Given the description of an element on the screen output the (x, y) to click on. 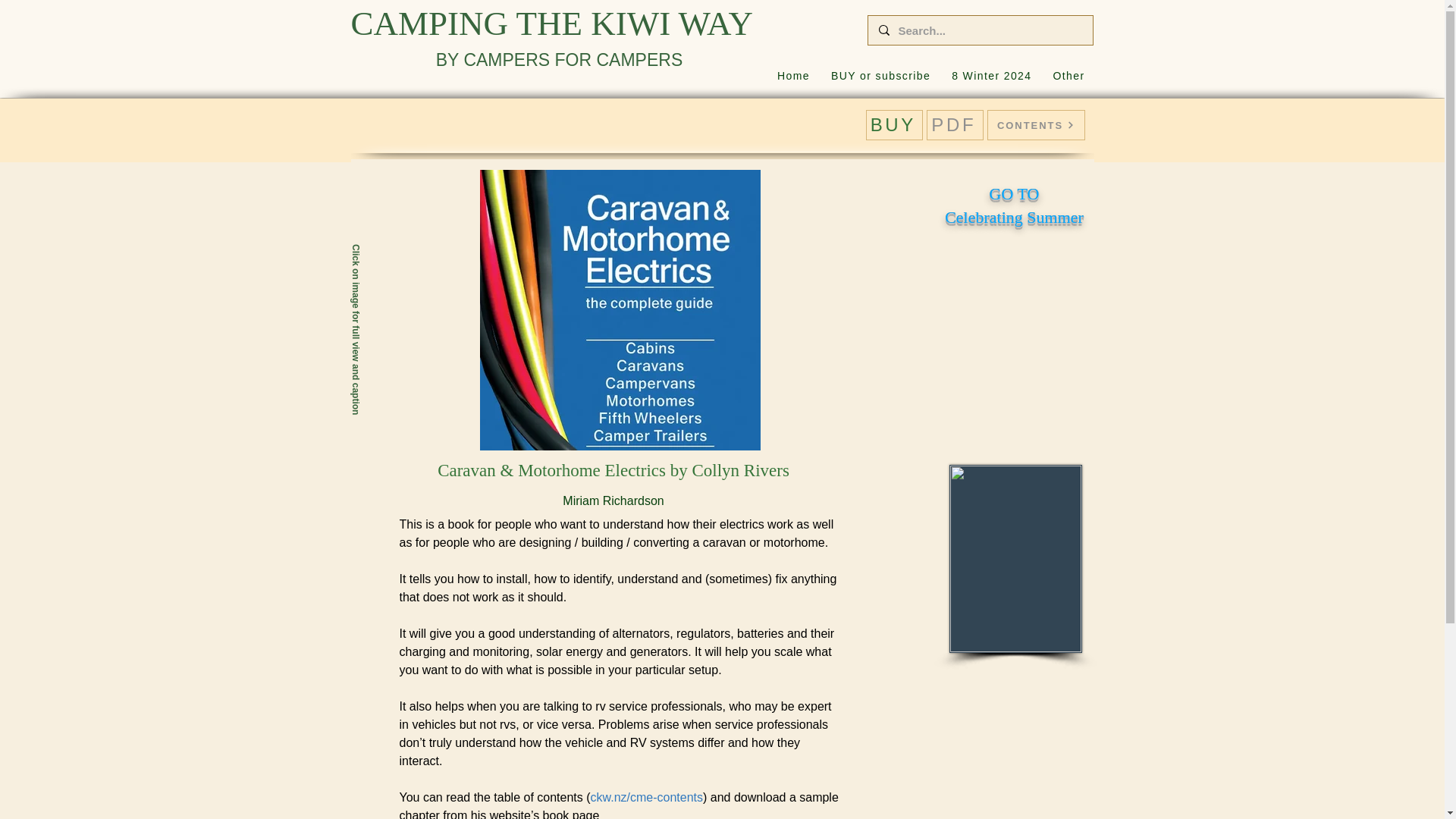
CONTENTS (1035, 124)
8 Winter 2024 (872, 75)
Home (1013, 205)
PDF (991, 75)
BUY (793, 75)
CAMPING THE KIWI WAY (955, 124)
BUY or subscribe (894, 124)
